Given the description of an element on the screen output the (x, y) to click on. 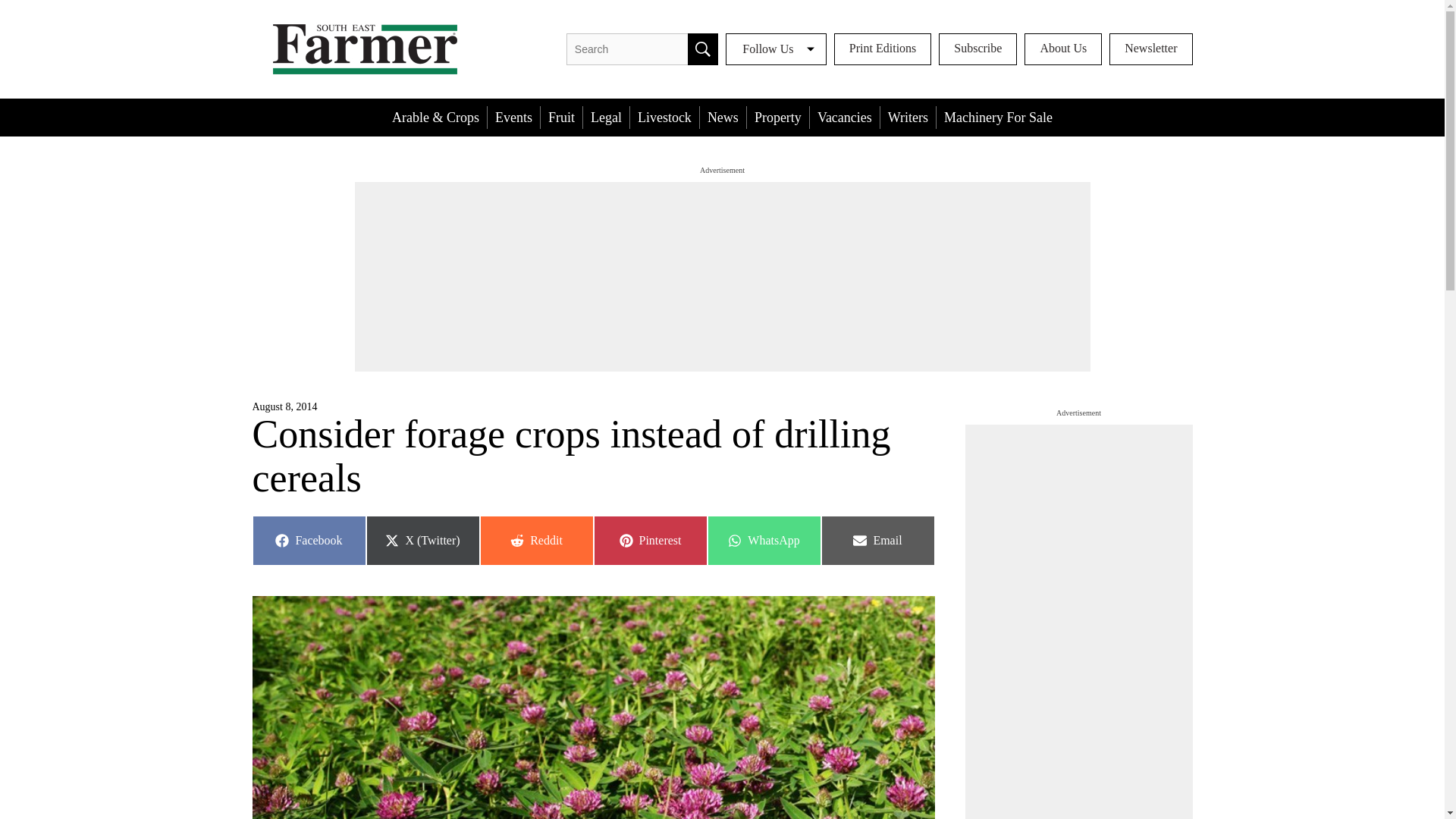
Print Editions (882, 49)
Writers (908, 117)
Subscribe (977, 49)
Follow Us (535, 540)
About Us (776, 49)
Search (1063, 49)
Newsletter (702, 49)
Fruit (1150, 49)
